Given the description of an element on the screen output the (x, y) to click on. 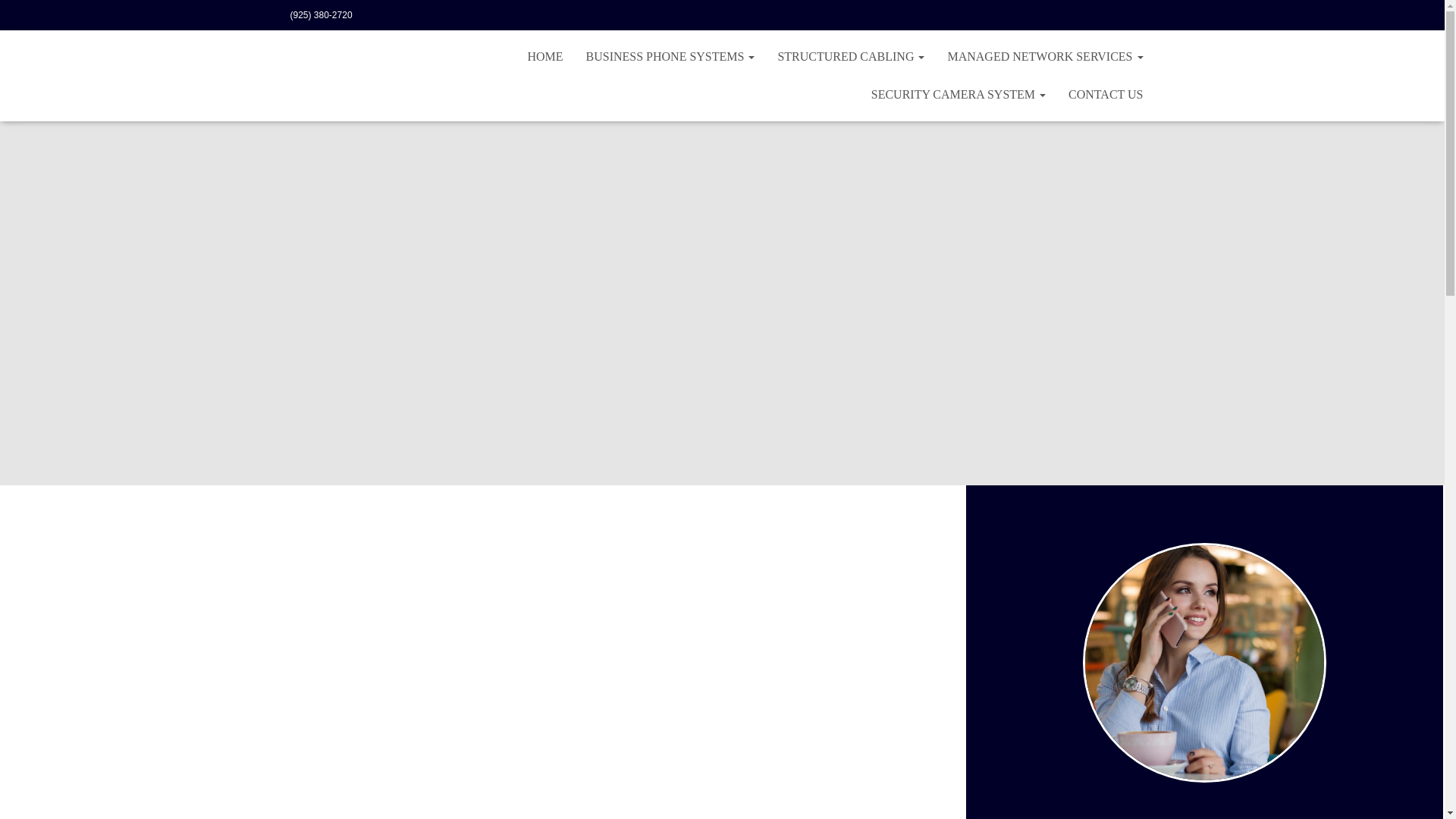
BUSINESS PHONE SYSTEMS (671, 56)
STRUCTURED CABLING (850, 56)
HOME (544, 56)
BUSINESS PHONE SYSTEMS (671, 56)
MANAGED NETWORK SERVICES (1045, 56)
Home (544, 56)
CONTACT US (1105, 94)
SECURITY CAMERA SYSTEM (958, 94)
